Given the description of an element on the screen output the (x, y) to click on. 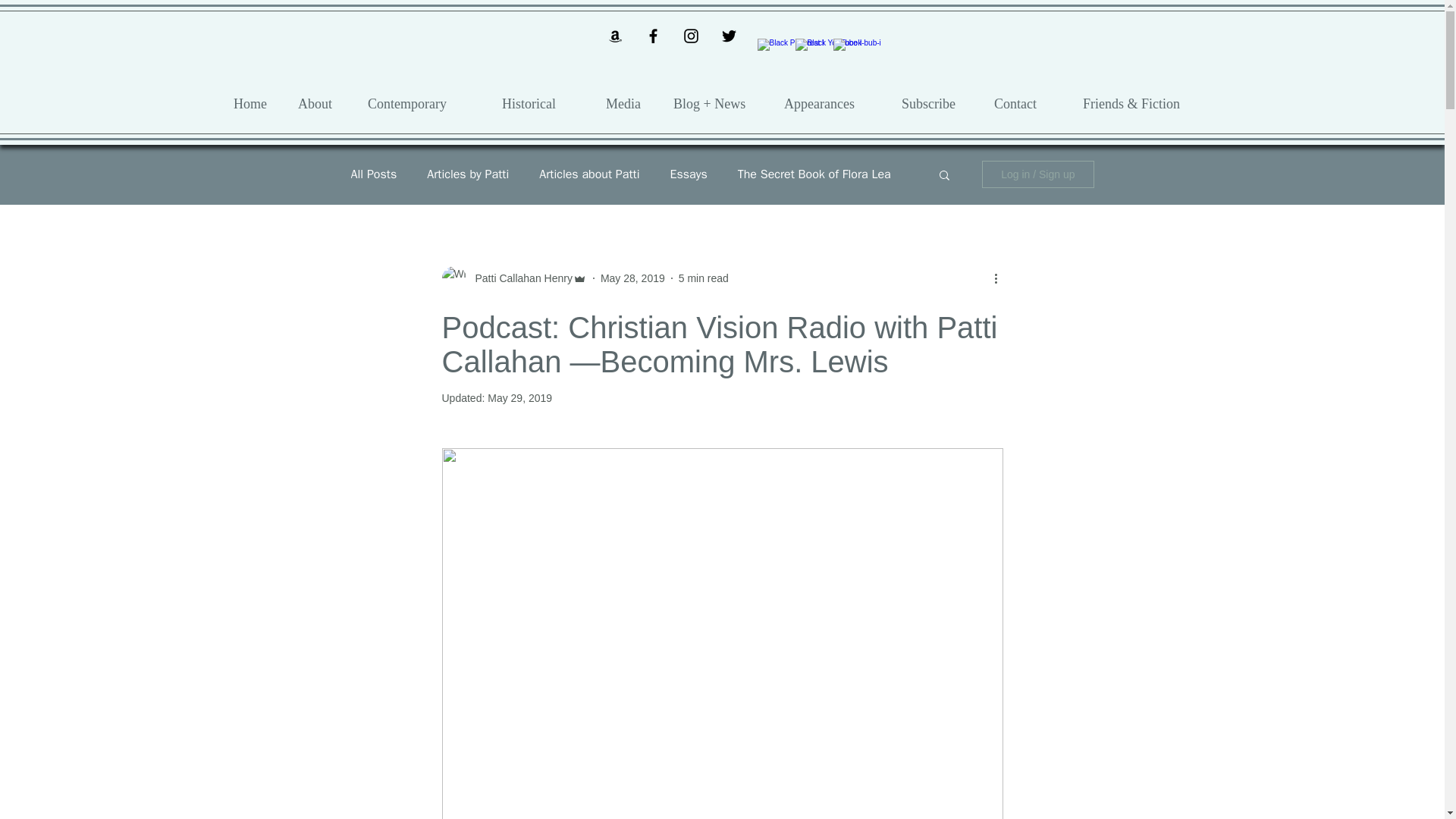
Patti Callahan Henry  (518, 277)
Contemporary (423, 103)
Historical (542, 103)
May 28, 2019 (632, 277)
5 min read (703, 277)
Home (254, 103)
About (321, 103)
Media (628, 103)
May 29, 2019 (519, 398)
